Given the description of an element on the screen output the (x, y) to click on. 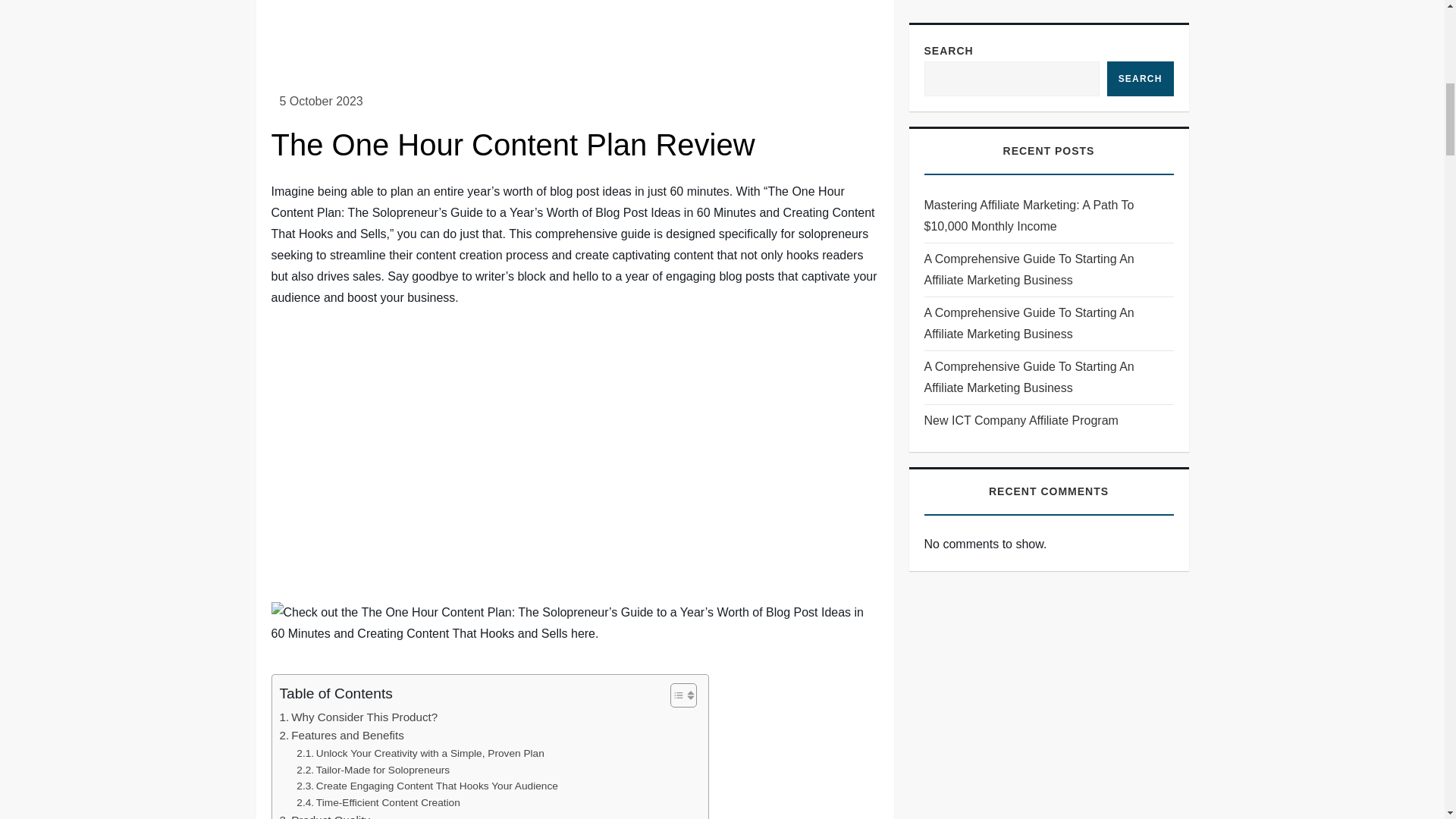
Features and Benefits (341, 735)
Why Consider This Product? (358, 717)
Create Engaging Content That Hooks Your Audience (427, 786)
Tailor-Made for Solopreneurs (373, 769)
Unlock Your Creativity with a Simple, Proven Plan (420, 753)
Tailor-Made for Solopreneurs (373, 769)
Time-Efficient Content Creation (378, 802)
Create Engaging Content That Hooks Your Audience (427, 786)
5 October 2023 (320, 101)
Product Quality (324, 815)
Unlock Your Creativity with a Simple, Proven Plan (420, 753)
Features and Benefits (341, 735)
Why Consider This Product? (358, 717)
Product Quality (324, 815)
Time-Efficient Content Creation (378, 802)
